Given the description of an element on the screen output the (x, y) to click on. 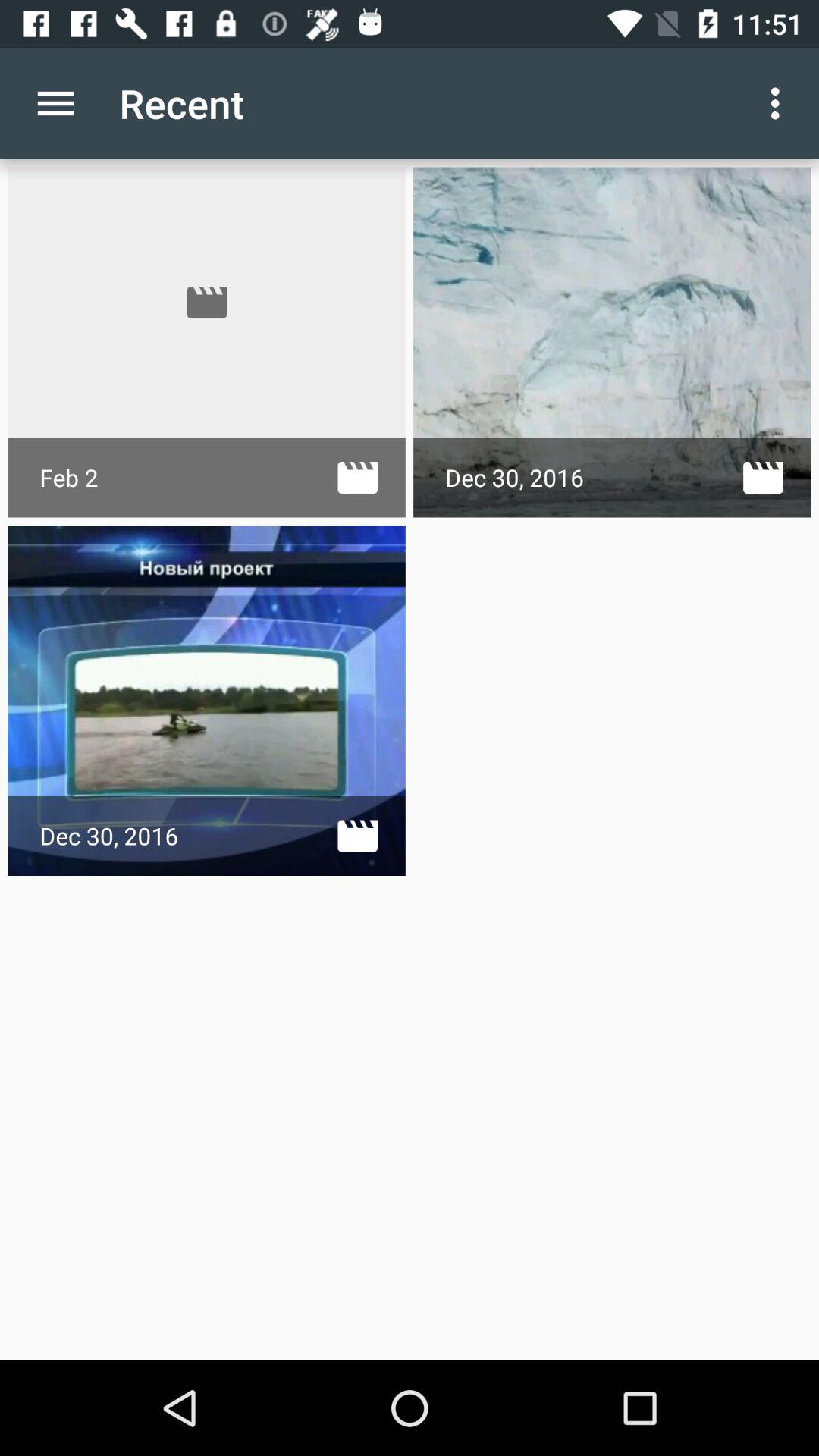
click the app to the left of recent item (55, 103)
